Given the description of an element on the screen output the (x, y) to click on. 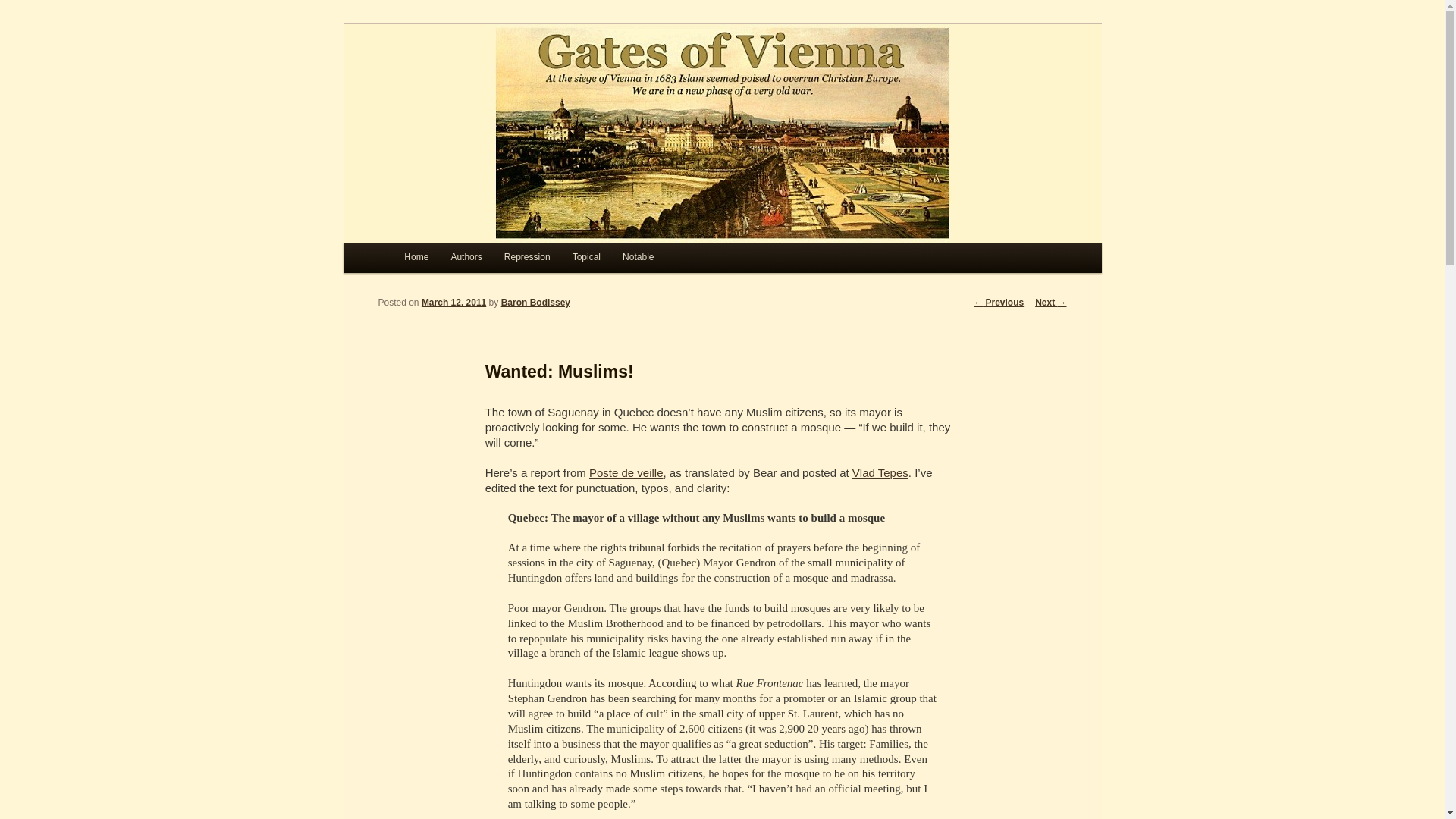
Home (416, 257)
Repression (526, 257)
Skip to primary content (472, 261)
Skip to primary content (472, 261)
Topical (585, 257)
Gates of Vienna (486, 78)
Skip to secondary content (479, 261)
Gates of Vienna (486, 78)
Authors (466, 257)
7:08 pm (454, 302)
